Given the description of an element on the screen output the (x, y) to click on. 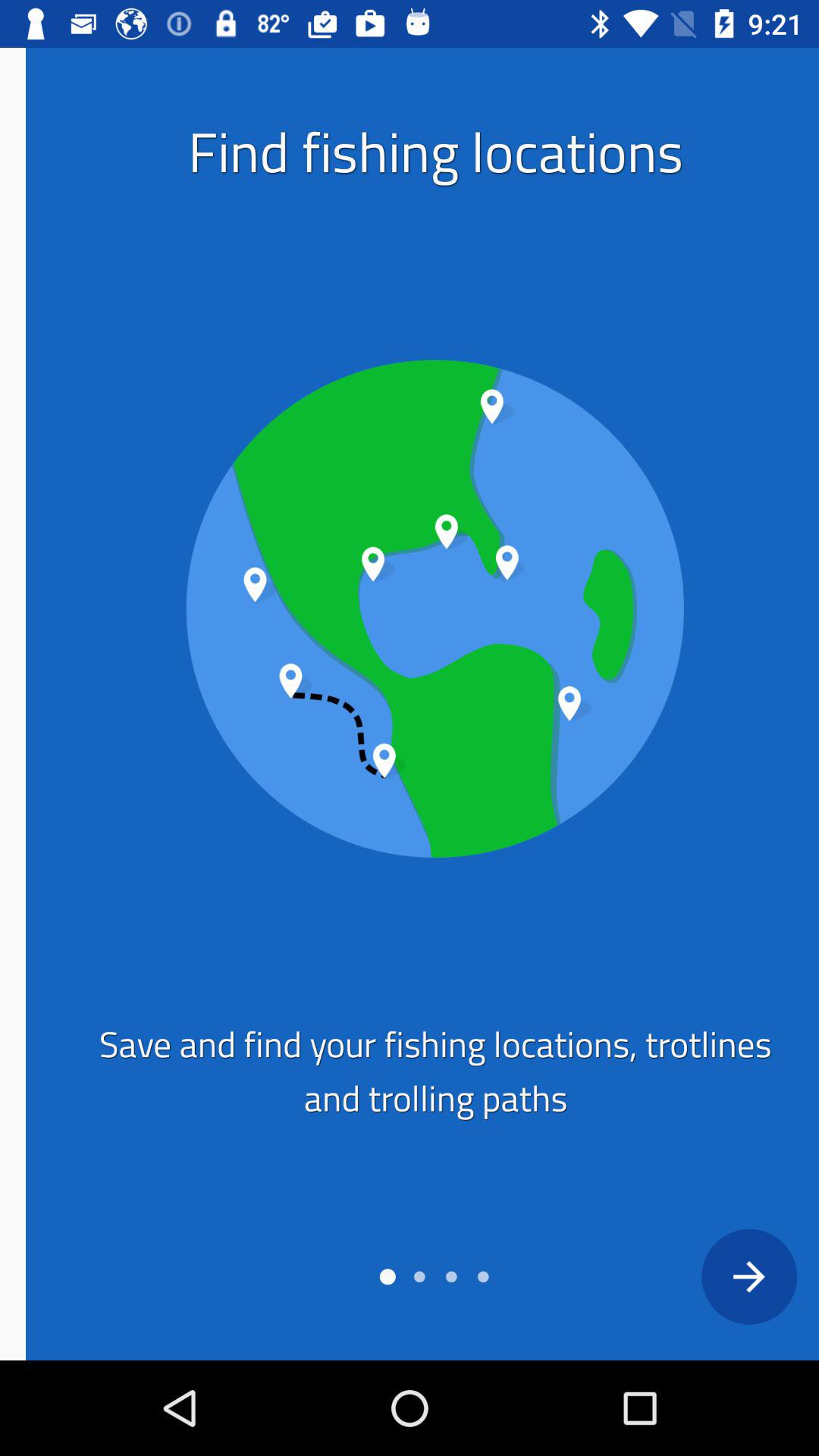
earth logo (409, 608)
